Given the description of an element on the screen output the (x, y) to click on. 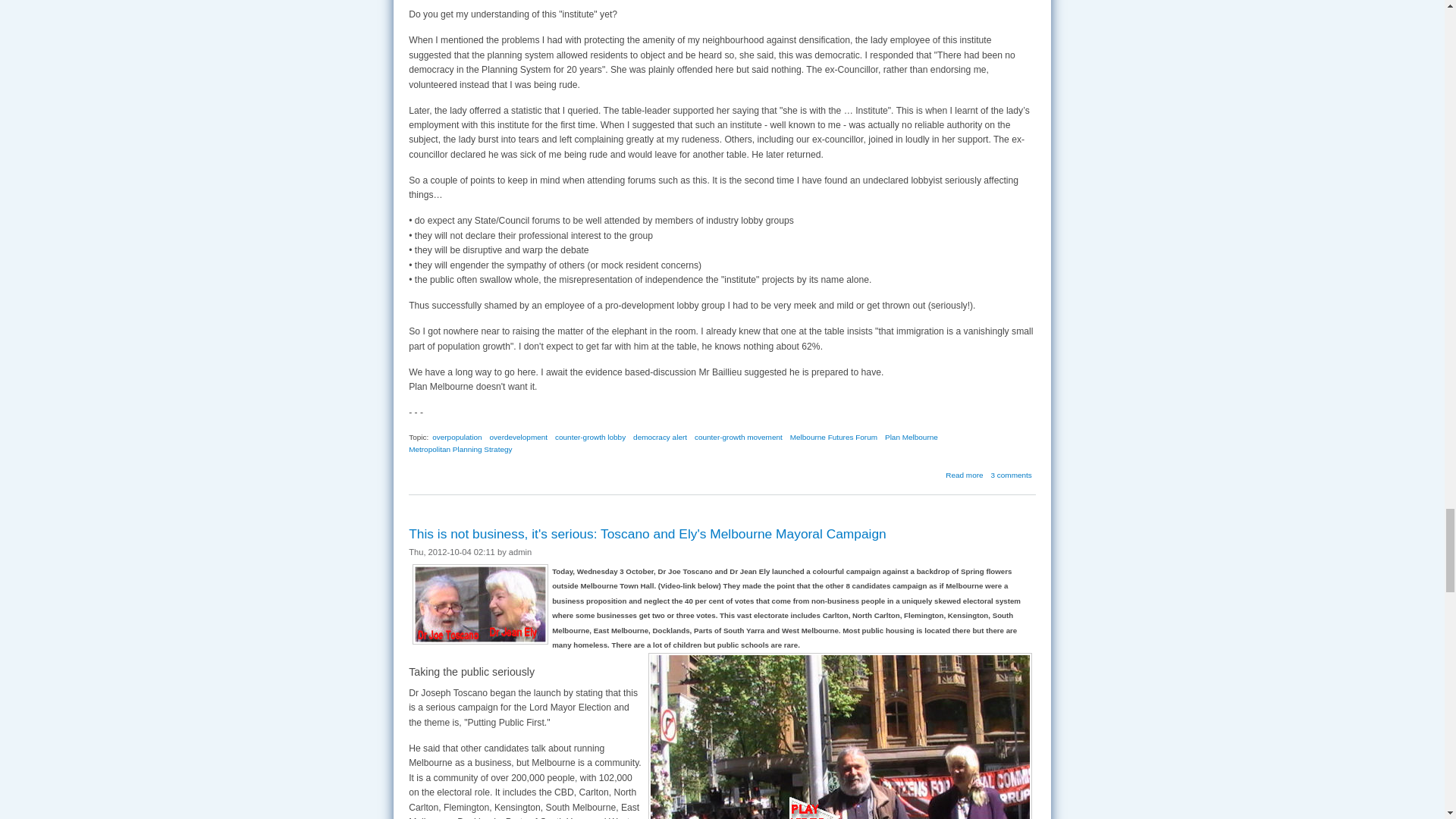
Jump to the first comment of this posting. (1011, 474)
